Given the description of an element on the screen output the (x, y) to click on. 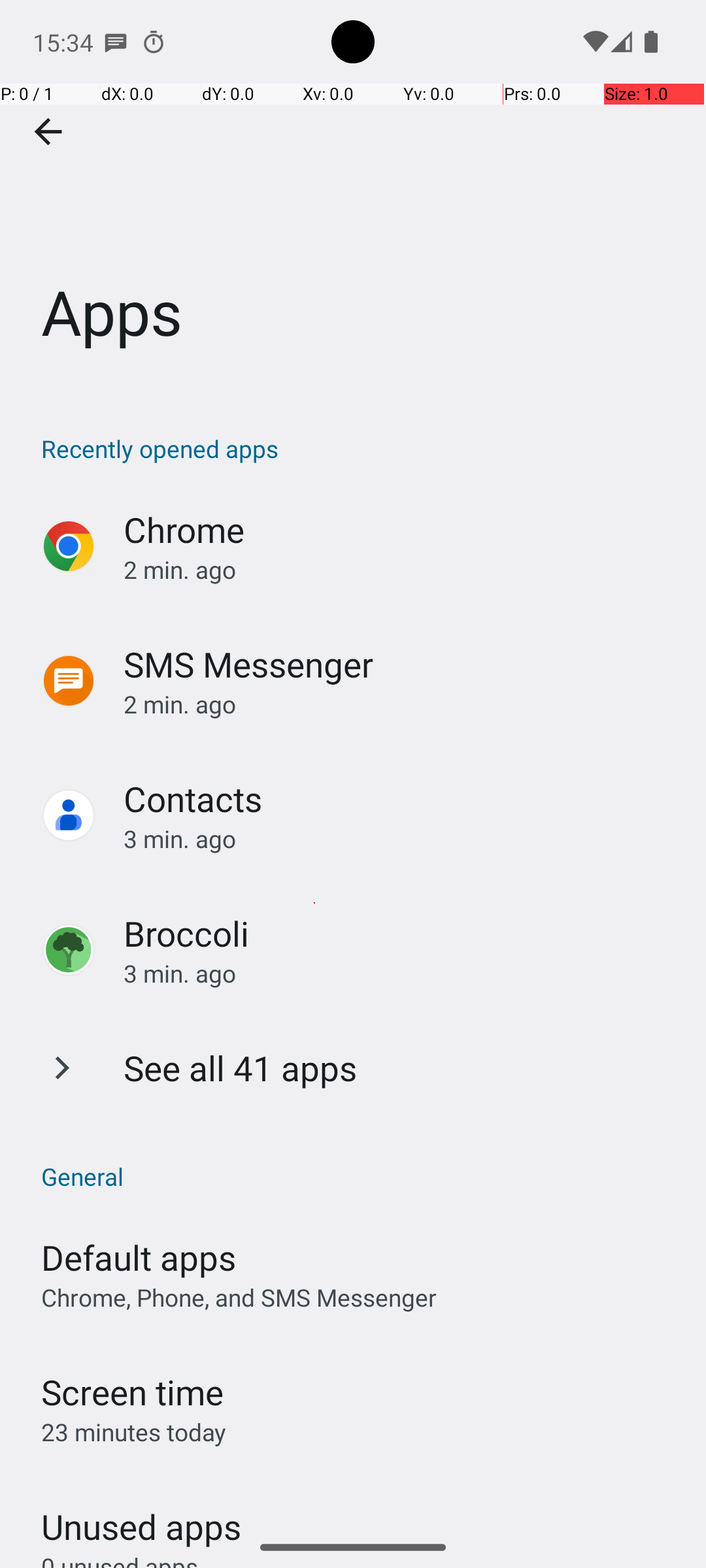
23 minutes today Element type: android.widget.TextView (133, 1431)
